Given the description of an element on the screen output the (x, y) to click on. 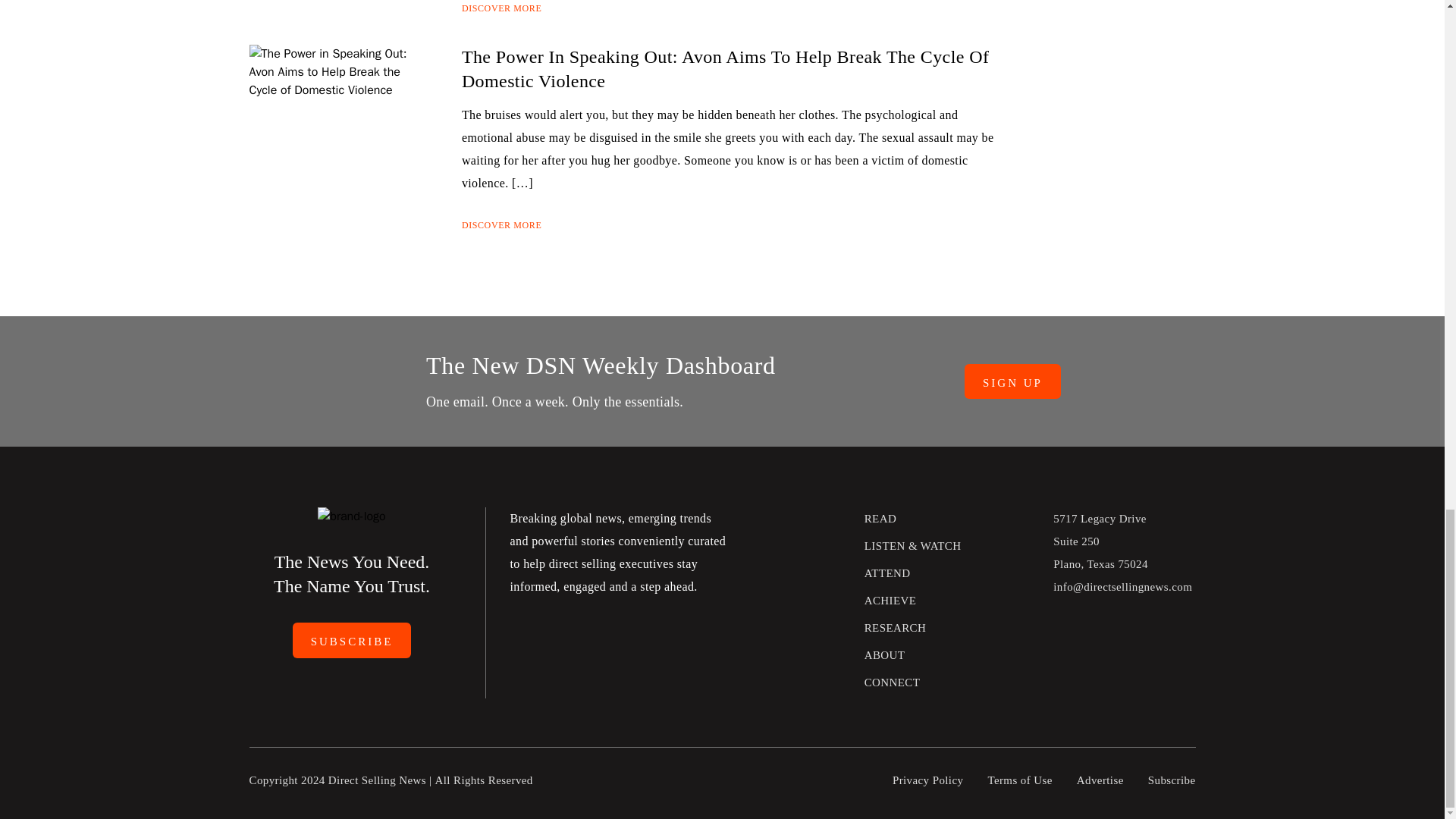
Sign Up (1012, 381)
